Given the description of an element on the screen output the (x, y) to click on. 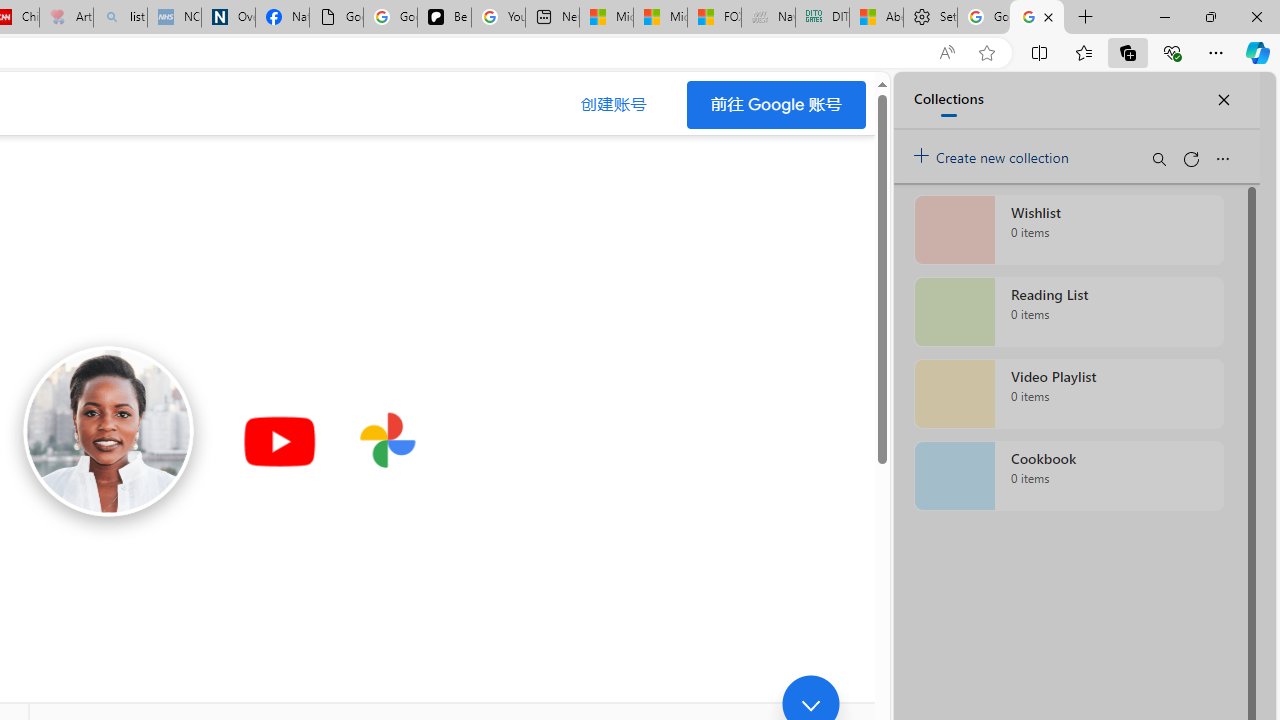
FOX News - MSN (714, 17)
